Given the description of an element on the screen output the (x, y) to click on. 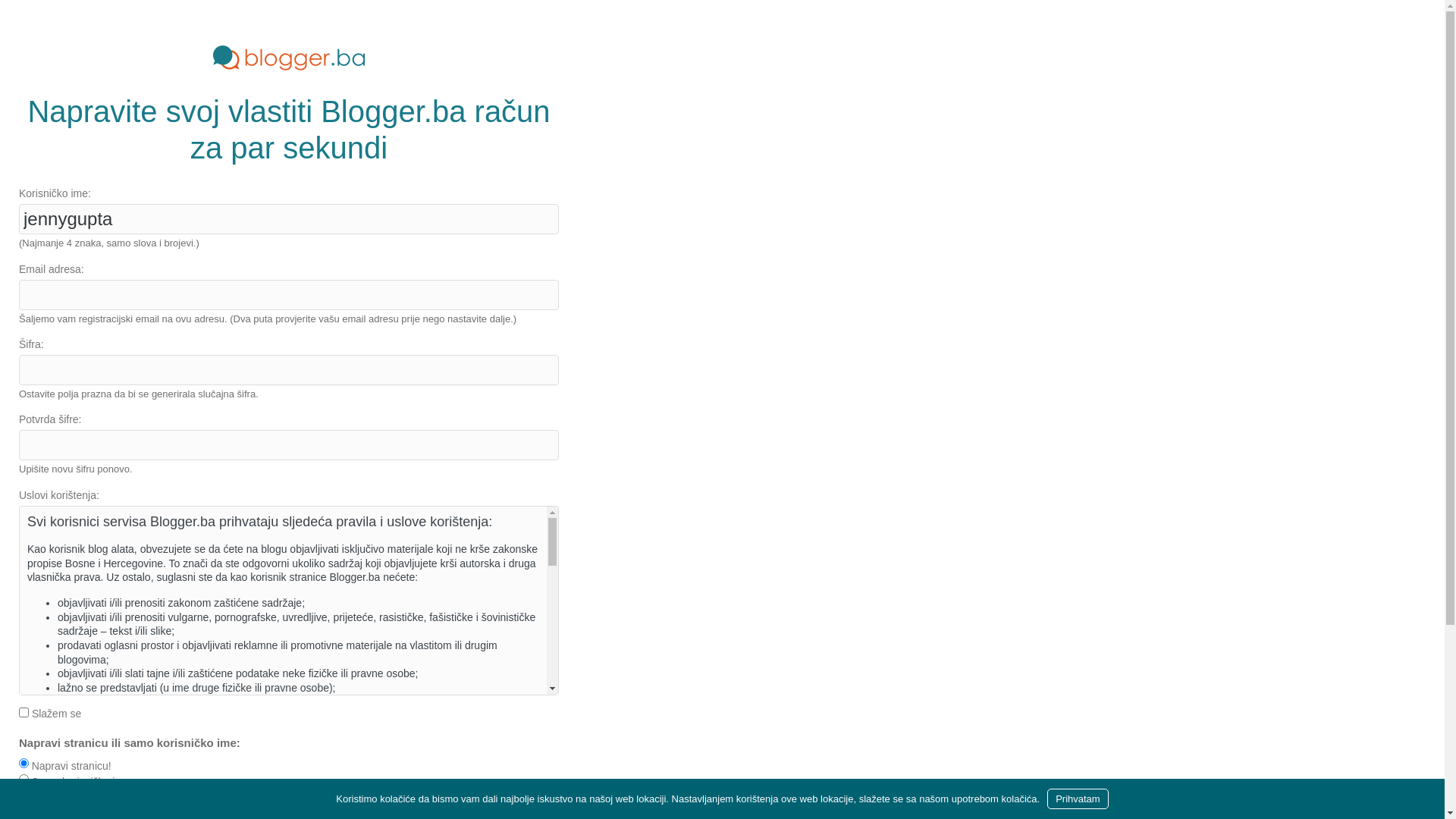
Prihvatam Element type: text (1077, 798)
